Given the description of an element on the screen output the (x, y) to click on. 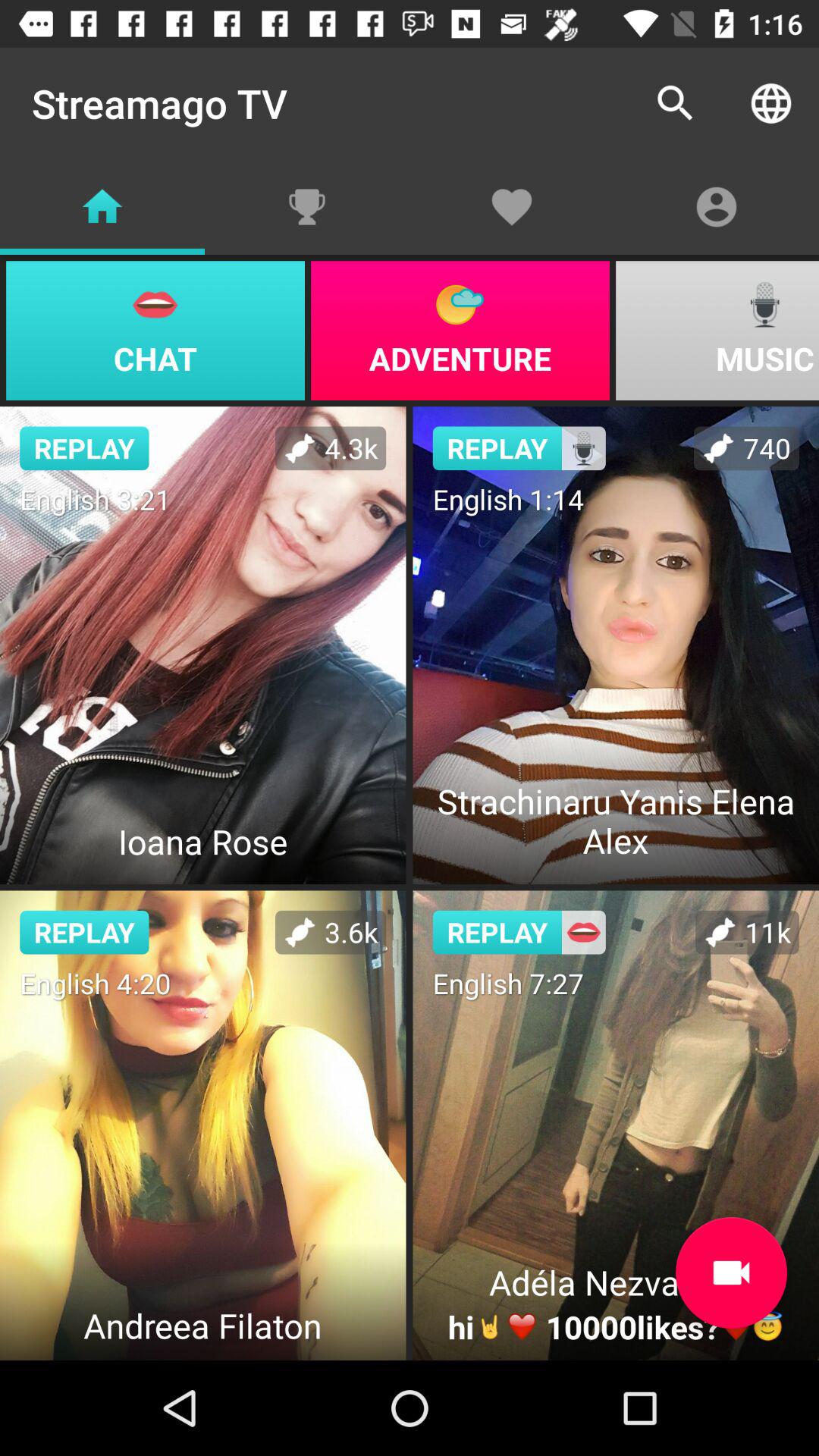
click on the second video option (616, 644)
